Given the description of an element on the screen output the (x, y) to click on. 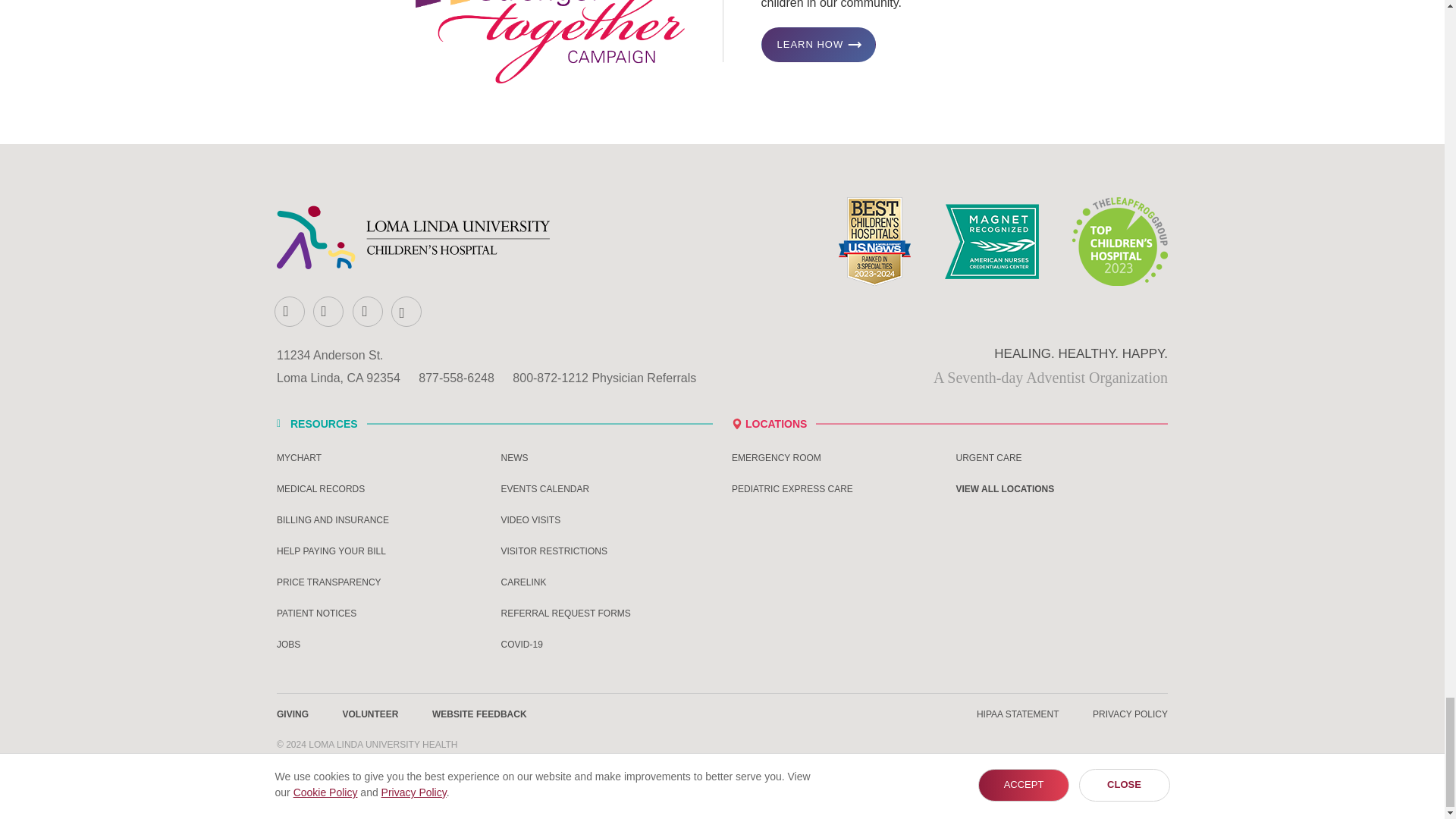
Covid-19 Information and Resources (606, 644)
